Given the description of an element on the screen output the (x, y) to click on. 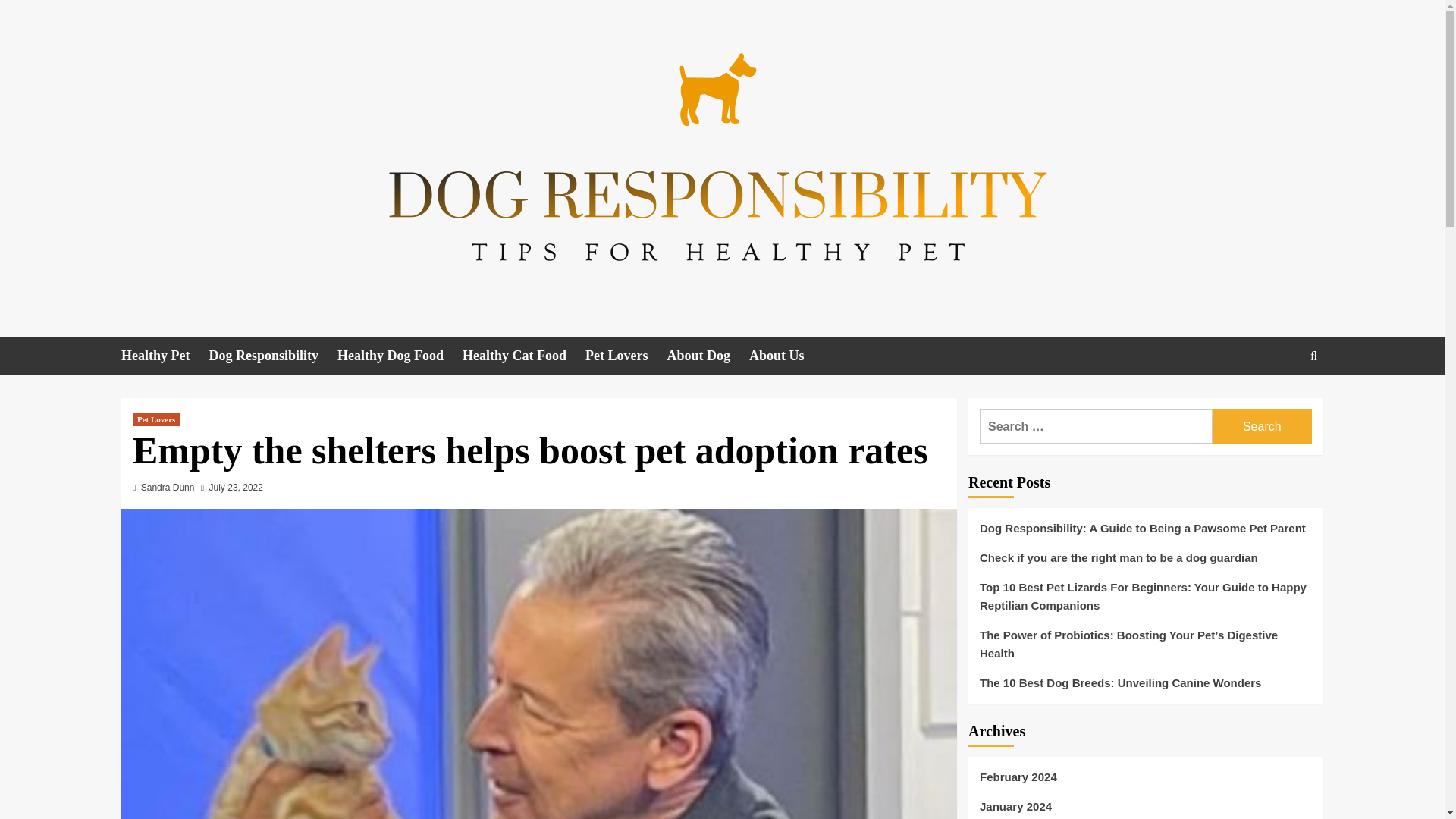
Search (1278, 401)
Search (1261, 426)
Pet Lovers (625, 355)
About Us (786, 355)
Healthy Pet (164, 355)
Pet Lovers (155, 419)
About Dog (707, 355)
Healthy Cat Food (524, 355)
Search (1261, 426)
Healthy Dog Food (400, 355)
Dog Responsibility (272, 355)
July 23, 2022 (236, 487)
Sandra Dunn (168, 487)
